Given the description of an element on the screen output the (x, y) to click on. 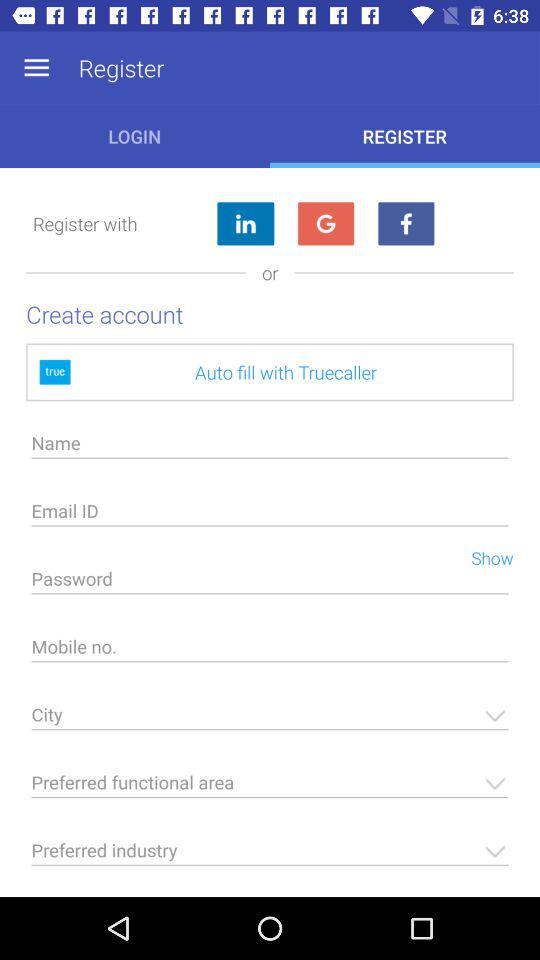
enter city (269, 720)
